Given the description of an element on the screen output the (x, y) to click on. 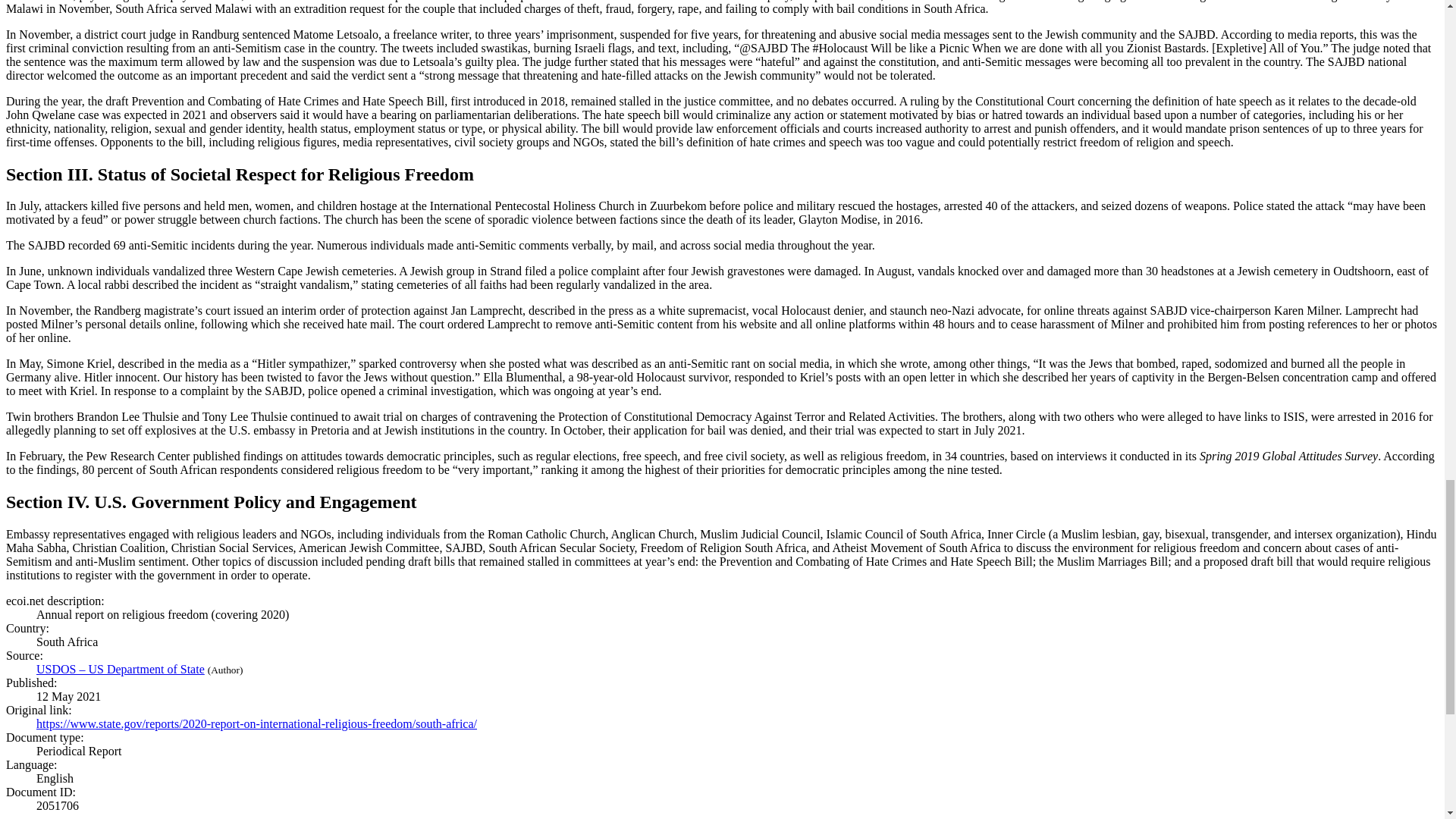
Read source description (120, 668)
